Given the description of an element on the screen output the (x, y) to click on. 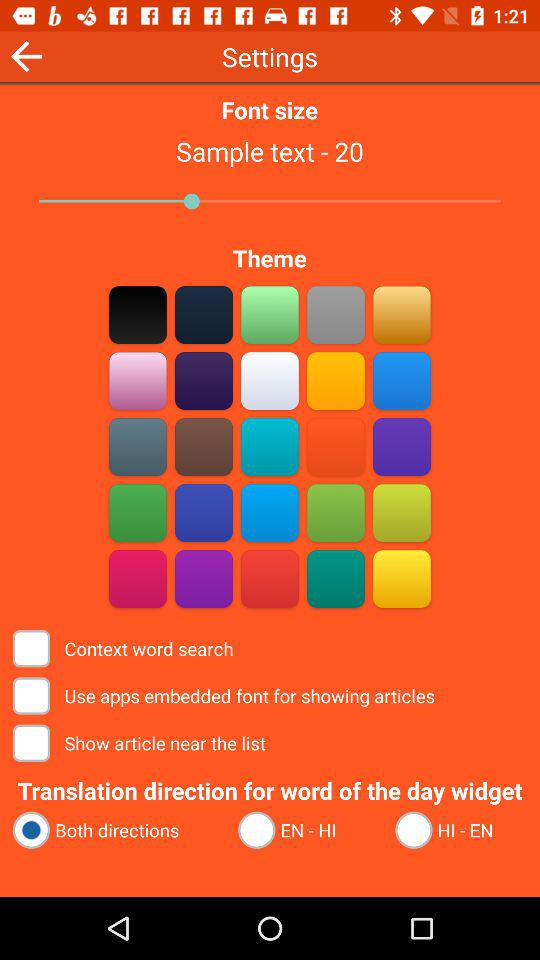
press item below the use apps embedded (141, 742)
